Given the description of an element on the screen output the (x, y) to click on. 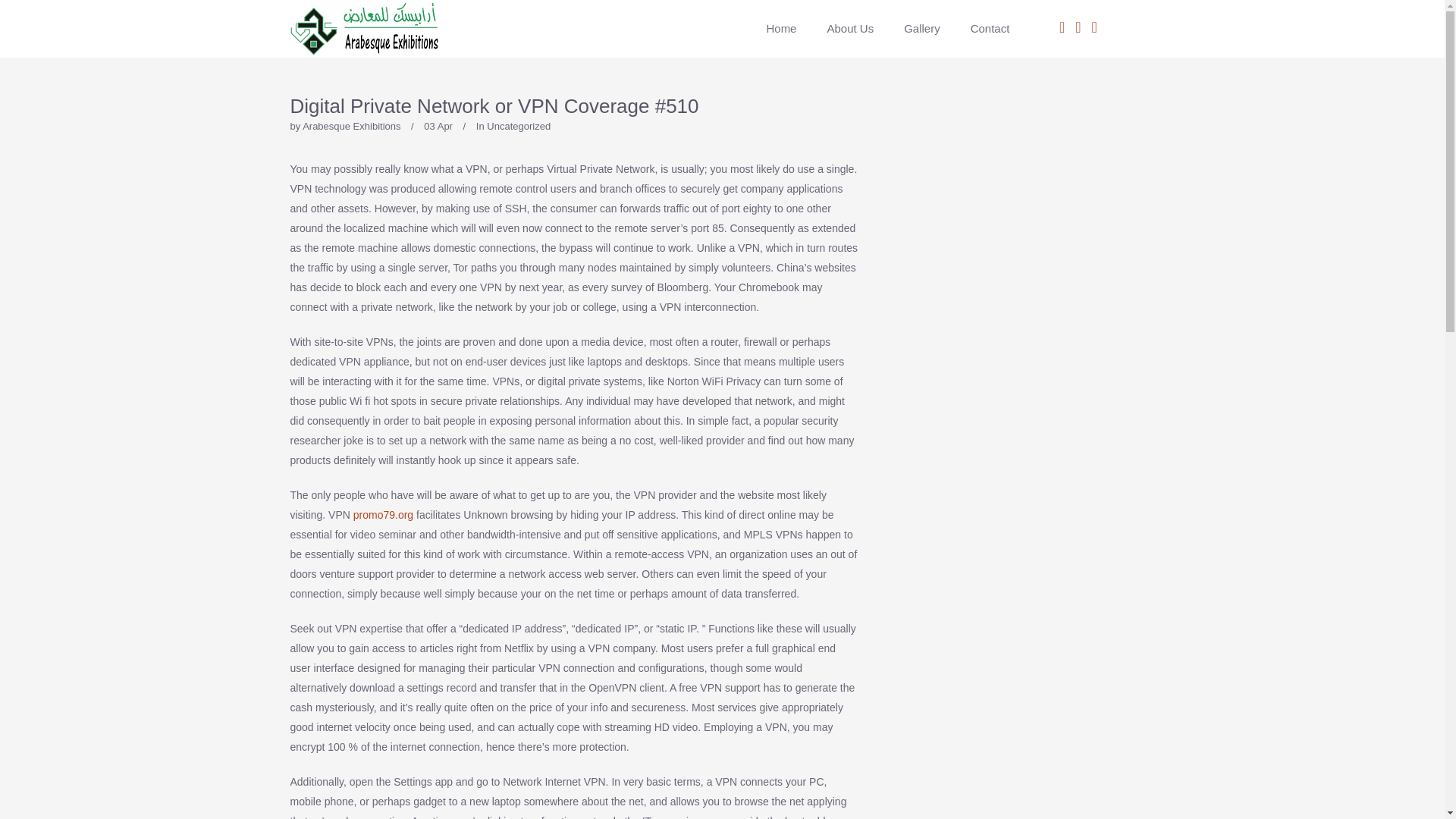
Uncategorized (518, 125)
promo79.org (383, 514)
Gallery (921, 28)
Arabesque Exhibitions (351, 125)
About Us (849, 28)
Contact (982, 28)
Posts by Arabesque Exhibitions (351, 125)
